Given the description of an element on the screen output the (x, y) to click on. 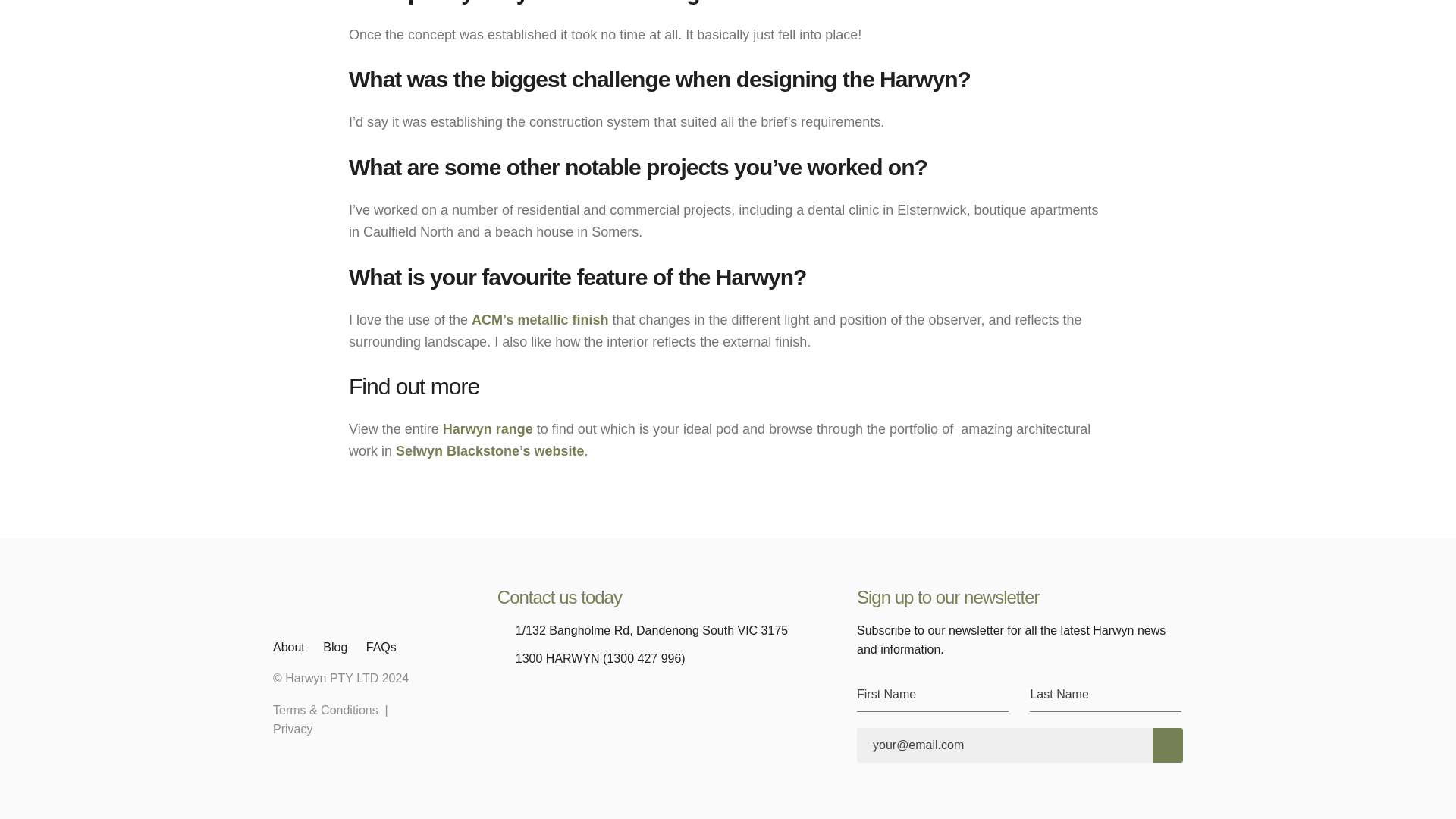
Privacy (293, 729)
1300 427 996 (644, 659)
FAQs (381, 647)
Harwyn range (487, 428)
Visit Selwyn Blackstone's website (489, 450)
Sign Up (1167, 745)
Linkedin (506, 689)
View the Harwyn designer pod range (487, 428)
Instagram (560, 689)
Learn more about the Harwyn colour range (539, 319)
Blog (335, 647)
Sign Up (1167, 745)
Facebook (533, 689)
1300 HARWYN (557, 659)
About (288, 647)
